Given the description of an element on the screen output the (x, y) to click on. 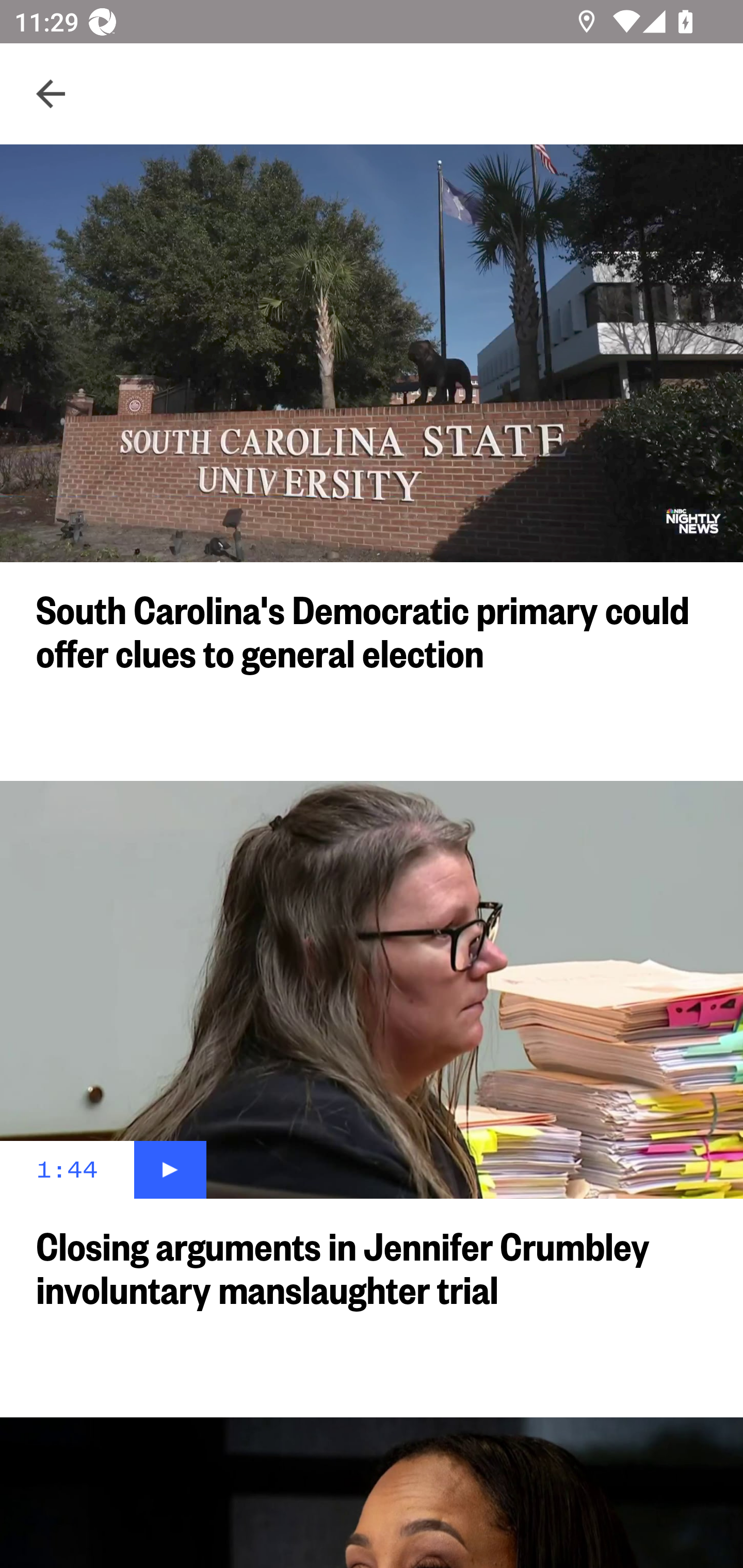
Navigate up (50, 93)
